Given the description of an element on the screen output the (x, y) to click on. 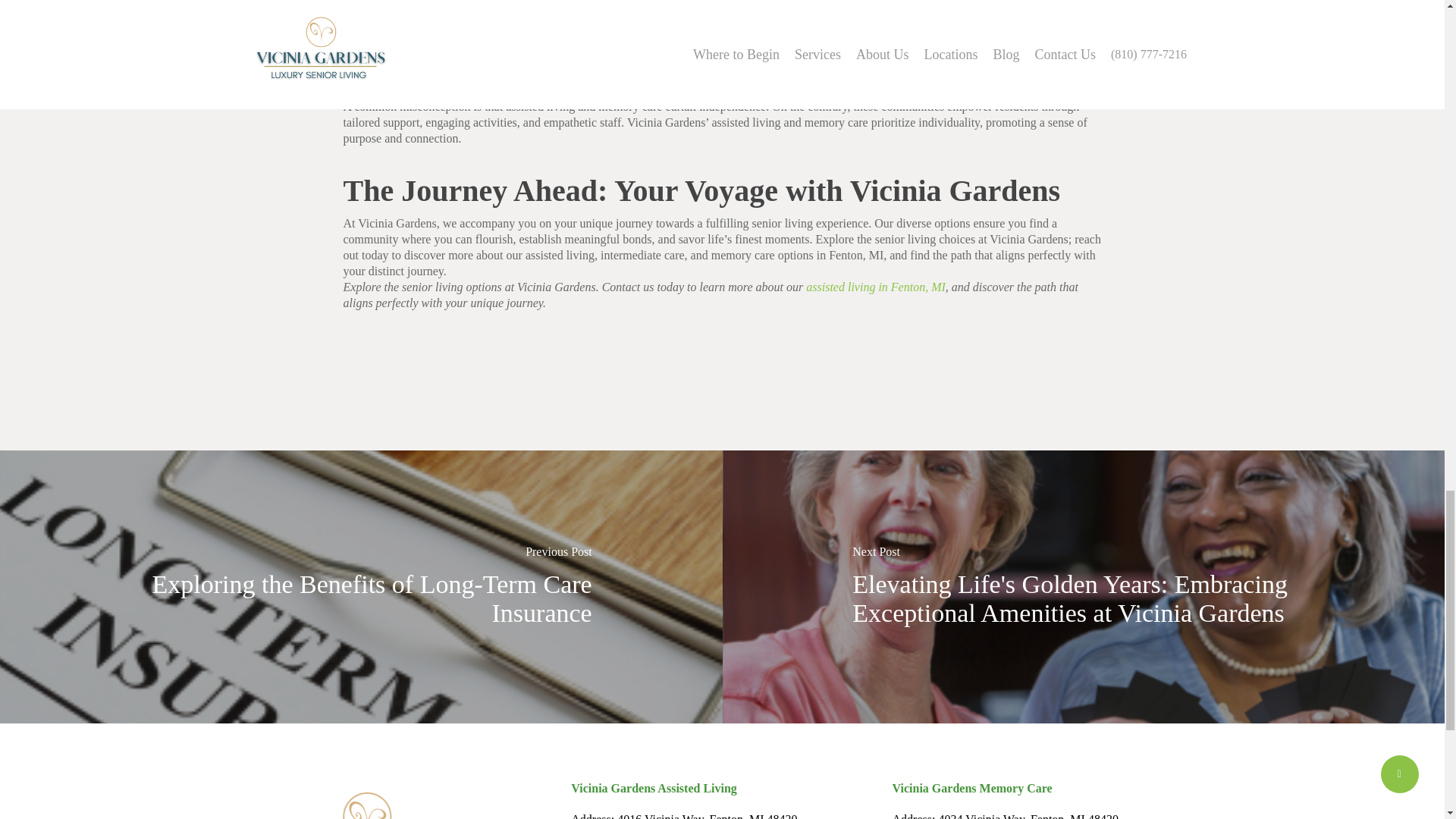
Address: 4016 Vicinia Way, Fenton, MI 48430 (683, 816)
Address: 4034 Vicinia Way, Fenton, MI 48430 (1005, 816)
assisted living in Fenton, MI (875, 286)
